Given the description of an element on the screen output the (x, y) to click on. 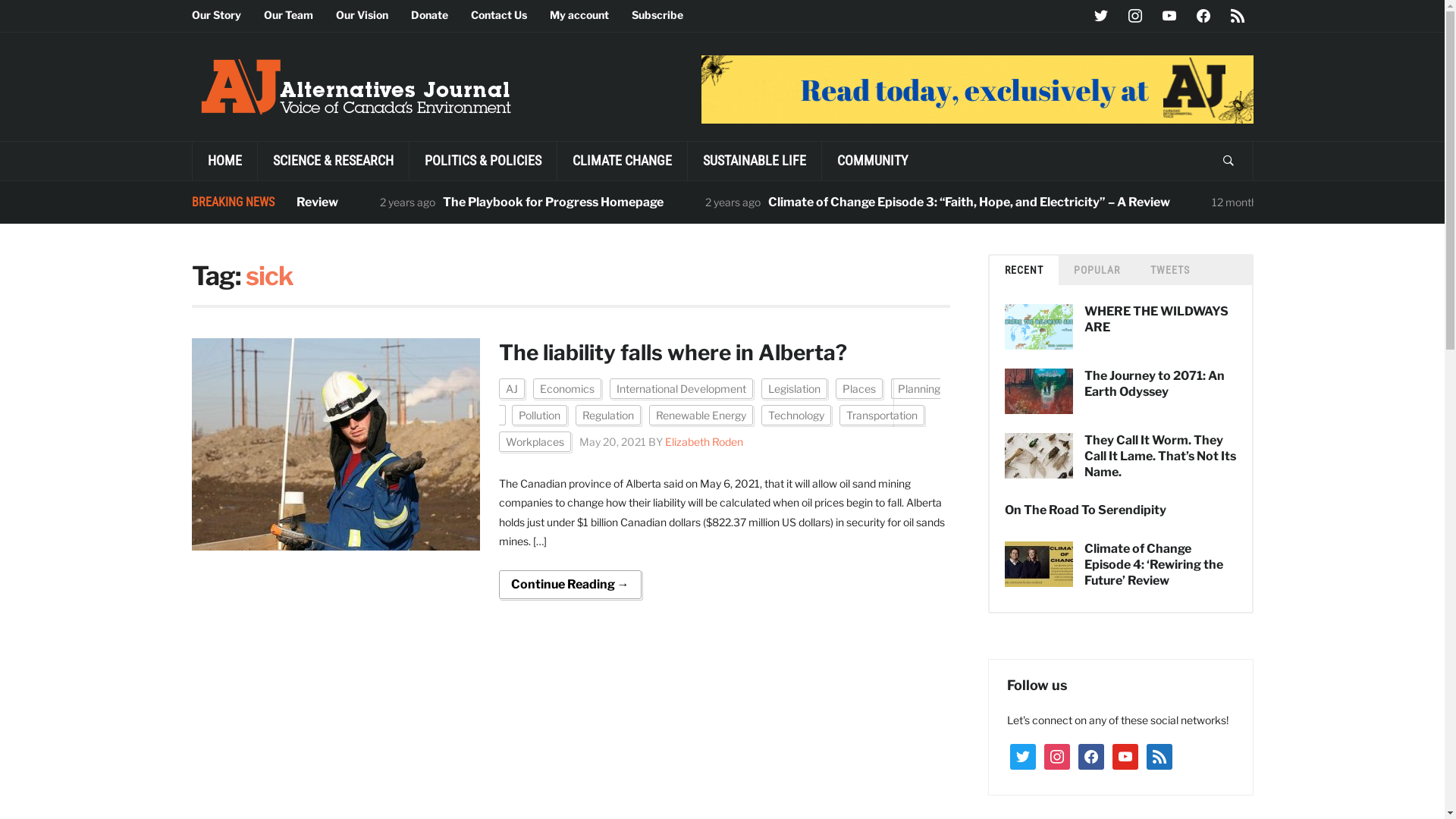
SUSTAINABLE LIFE Element type: text (754, 160)
Technology Element type: text (796, 414)
Our Team Element type: text (299, 15)
The liability falls where in Alberta? Element type: text (672, 352)
HOME Element type: text (223, 160)
Donate Element type: text (440, 15)
AJ Element type: text (511, 388)
Regulation Element type: text (607, 414)
Places Element type: text (858, 388)
twitter Element type: text (1022, 755)
Economics Element type: text (566, 388)
POLITICS & POLICIES Element type: text (481, 160)
Our Vision Element type: text (372, 15)
Our Story Element type: text (227, 15)
Pollution Element type: text (538, 414)
On The Road To Serendipity Element type: text (1084, 509)
CLIMATE CHANGE Element type: text (621, 160)
facebook Element type: text (1203, 14)
rss Element type: text (1159, 755)
The Journey to 2071: An Earth Odyssey Element type: text (1154, 383)
WHERE THE WILDWAYS ARE Element type: text (1156, 319)
Search Element type: text (1228, 160)
Renewable Energy Element type: text (701, 414)
rss Element type: text (1236, 14)
POPULAR Element type: text (1096, 270)
youtube Element type: text (1124, 755)
Contact Us Element type: text (509, 15)
My account Element type: text (589, 15)
instagram Element type: text (1135, 14)
Planning Element type: text (719, 401)
Transportation Element type: text (880, 414)
COMMUNITY Element type: text (871, 160)
The Playbook for Progress Homepage Element type: text (674, 201)
youtube Element type: text (1168, 14)
Legislation Element type: text (794, 388)
TWEETS Element type: text (1169, 270)
instagram Element type: text (1056, 755)
facebook Element type: text (1091, 755)
RECENT Element type: text (1022, 270)
Subscribe Element type: text (667, 15)
International Development Element type: text (681, 388)
Elizabeth Roden Element type: text (703, 441)
twitter Element type: text (1100, 14)
Workplaces Element type: text (534, 441)
SCIENCE & RESEARCH Element type: text (331, 160)
